Given the description of an element on the screen output the (x, y) to click on. 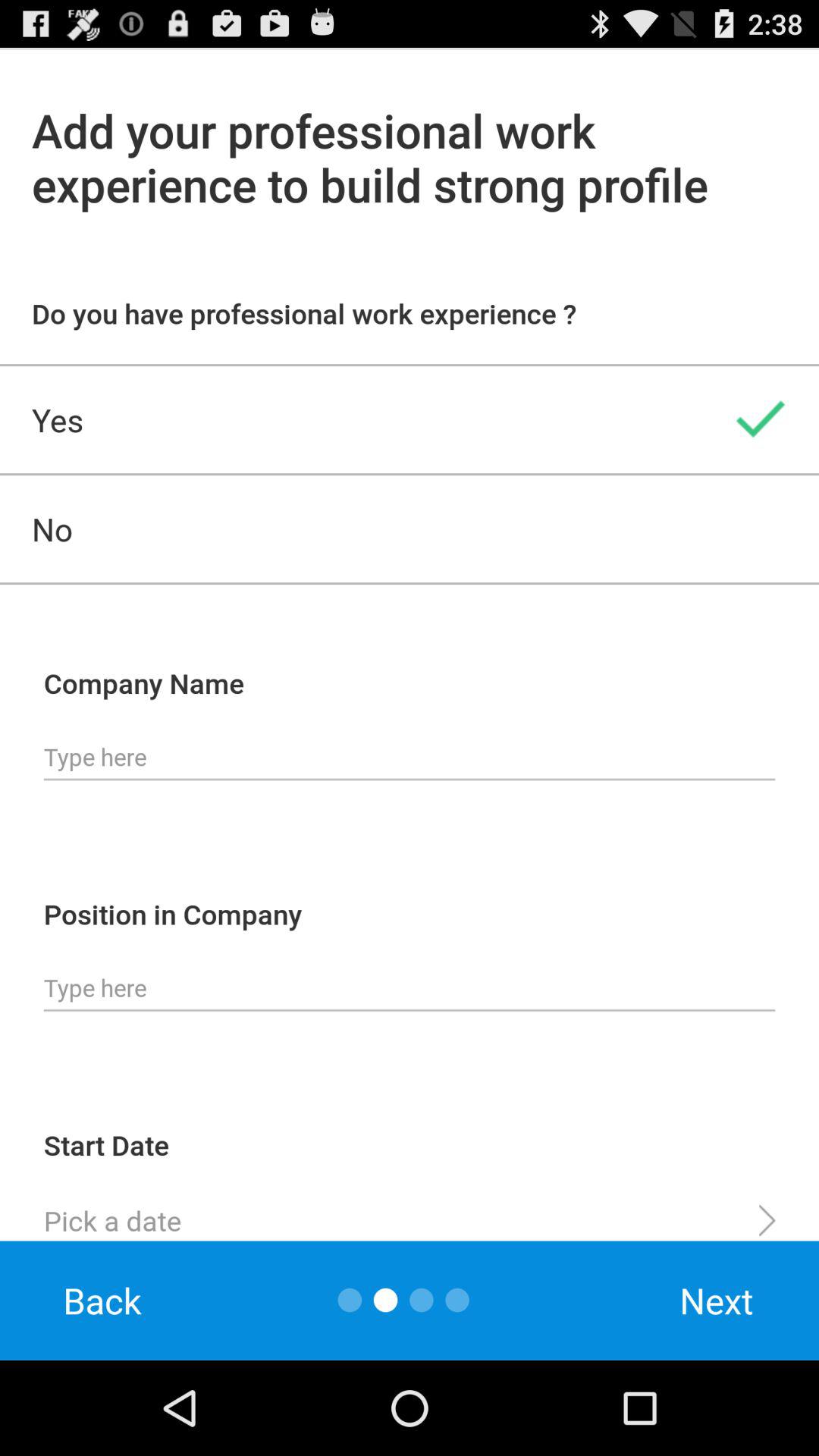
flip until next (716, 1300)
